Given the description of an element on the screen output the (x, y) to click on. 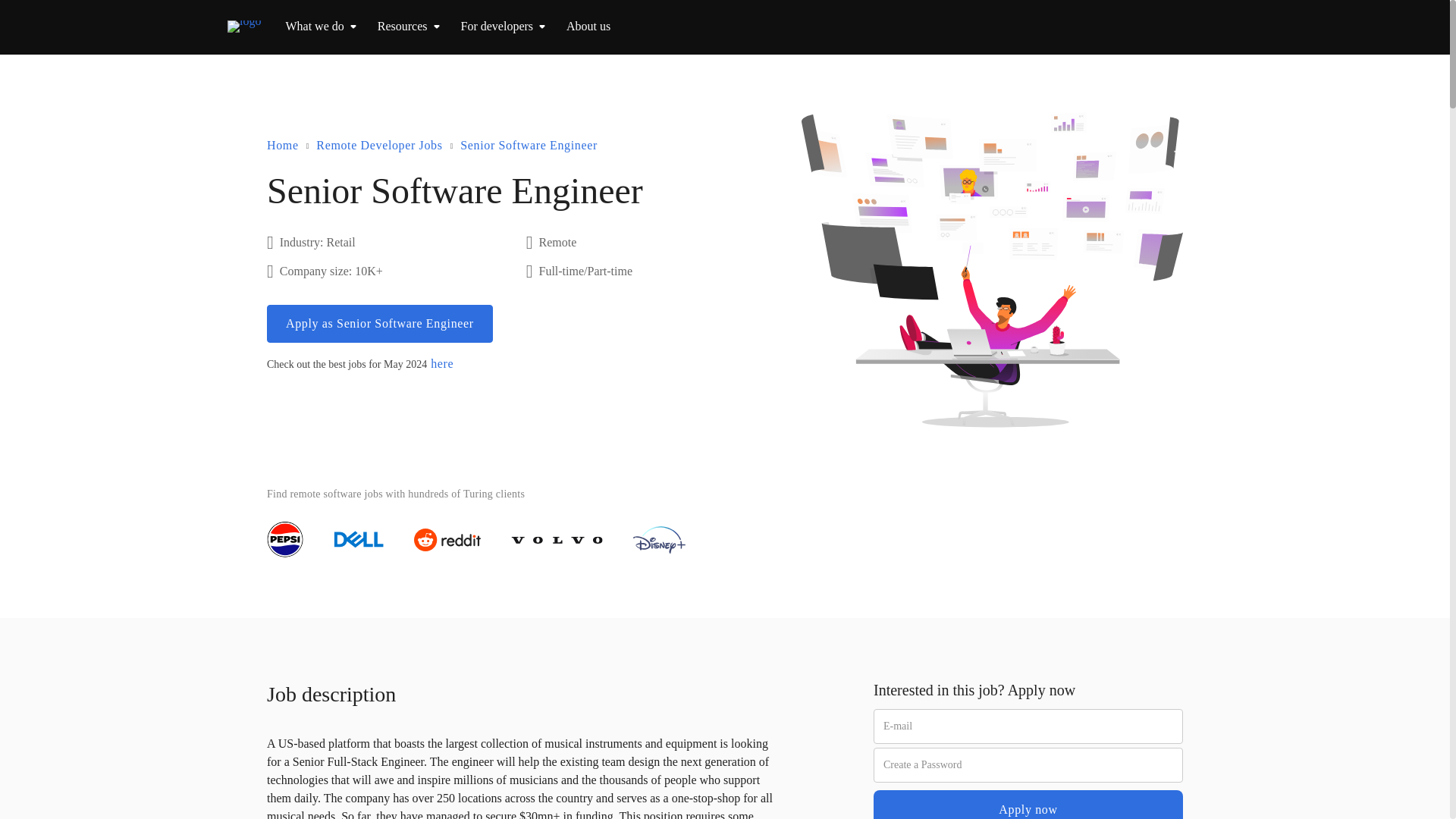
For developers (497, 26)
Apply as Senior Software Engineer (379, 323)
Resources (402, 26)
Apply now (1027, 804)
Home (282, 145)
Remote Developer Jobs (378, 145)
About us (588, 26)
here (441, 363)
Apply now (1027, 804)
What we do (314, 26)
